Given the description of an element on the screen output the (x, y) to click on. 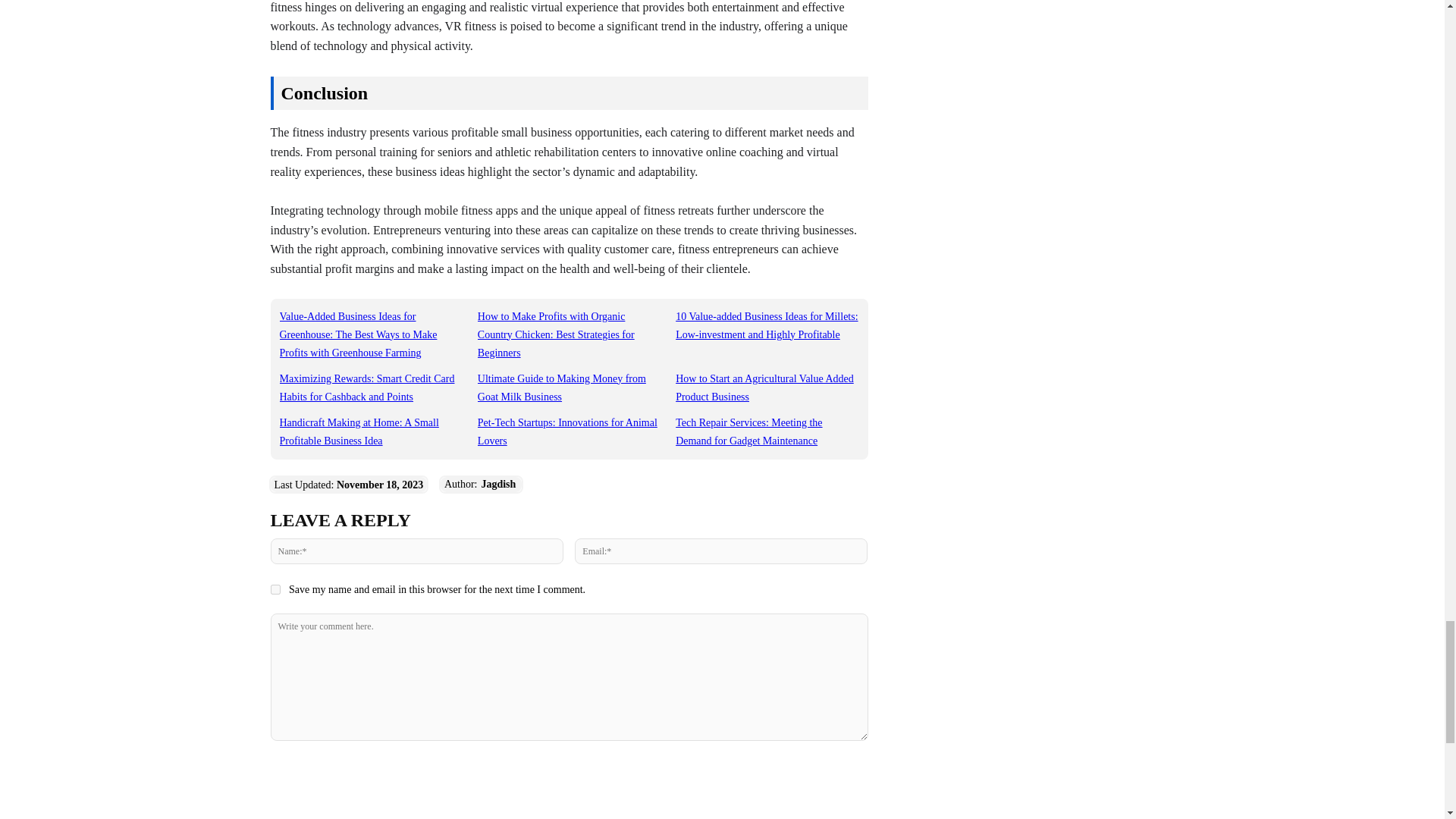
yes (274, 589)
Post Comment (568, 770)
